Given the description of an element on the screen output the (x, y) to click on. 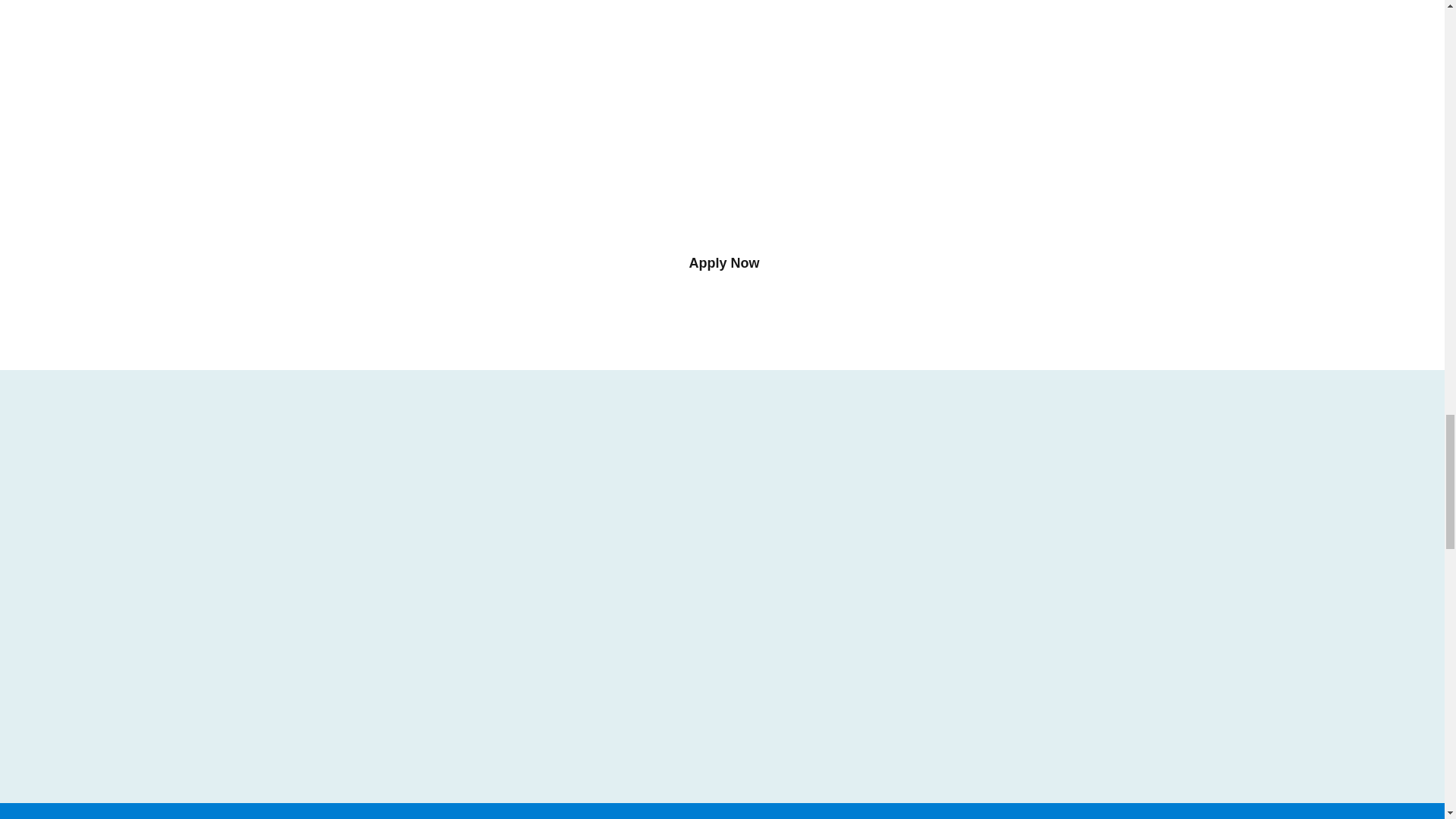
Apply Now (723, 263)
